Given the description of an element on the screen output the (x, y) to click on. 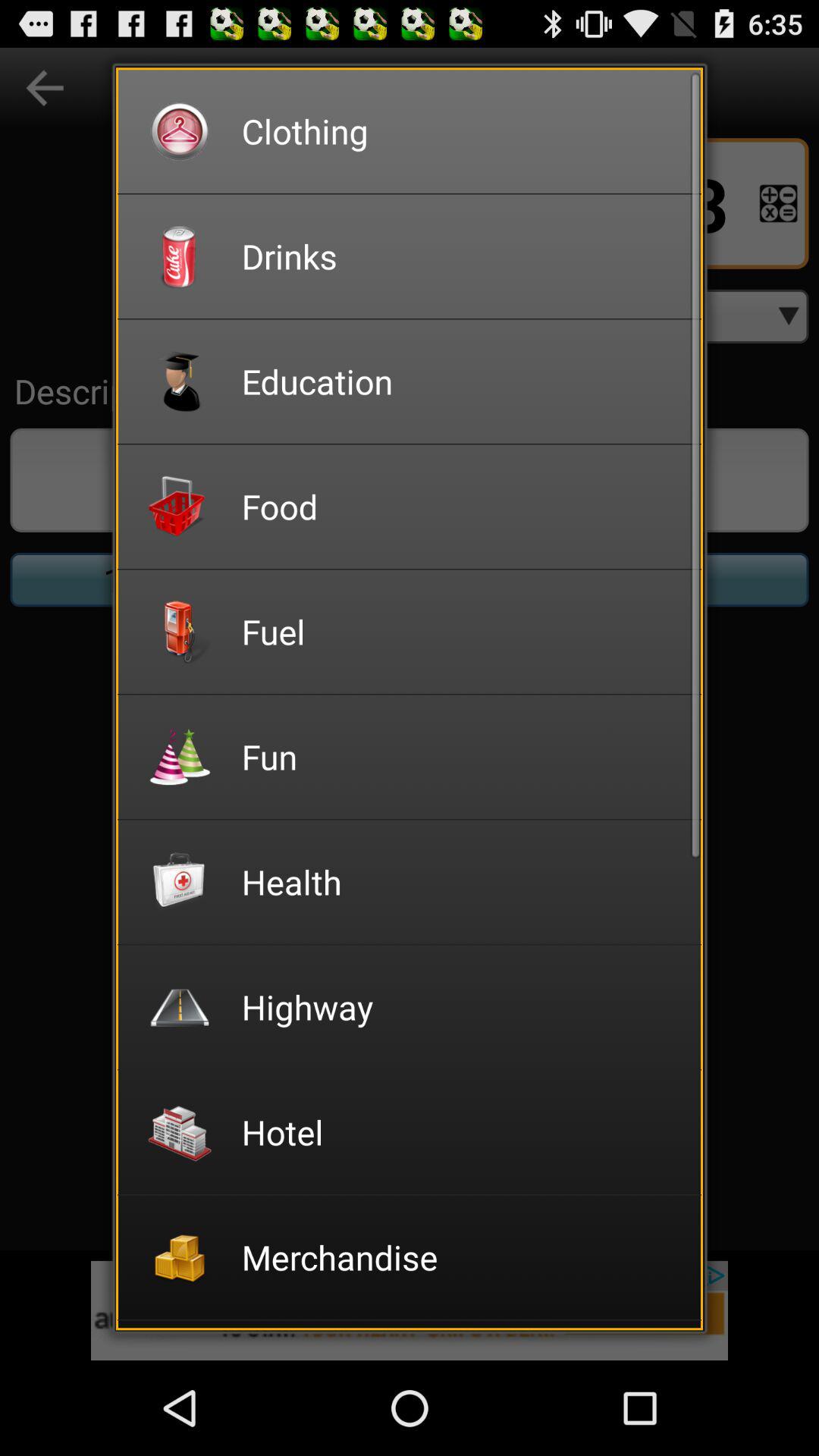
turn off the food icon (461, 506)
